Given the description of an element on the screen output the (x, y) to click on. 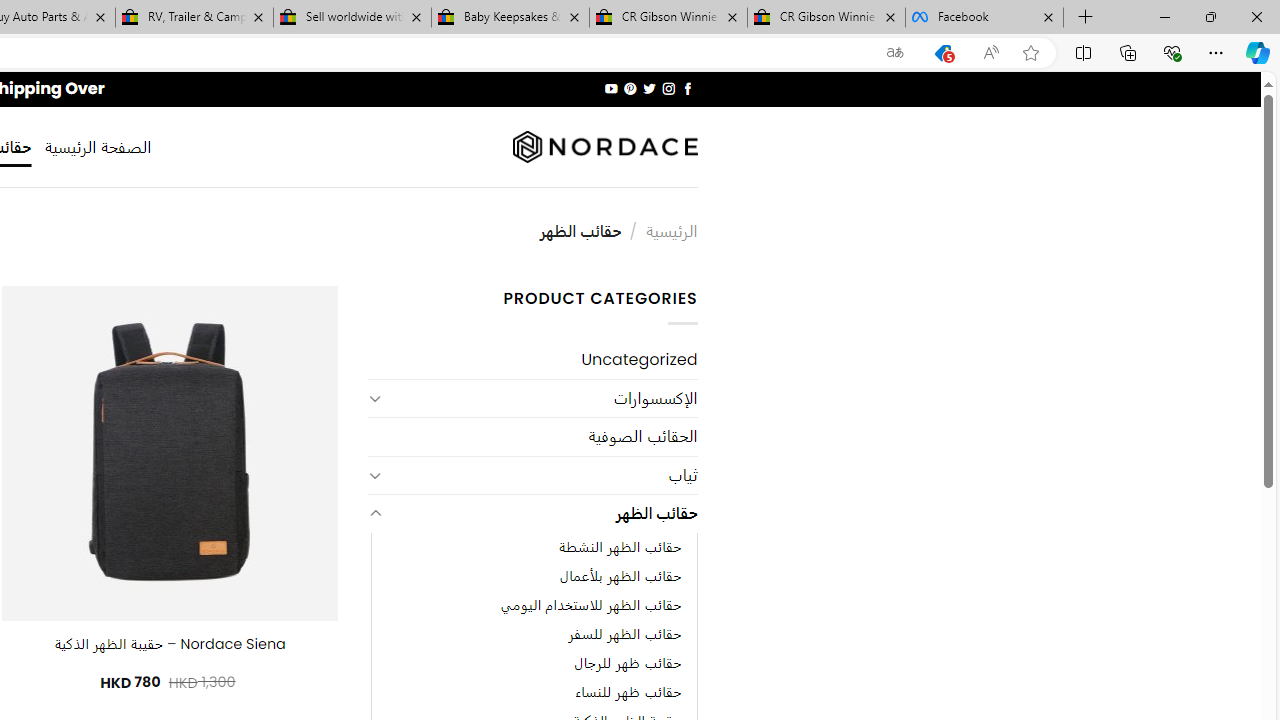
Follow on Twitter (648, 88)
Baby Keepsakes & Announcements for sale | eBay (509, 17)
